Given the description of an element on the screen output the (x, y) to click on. 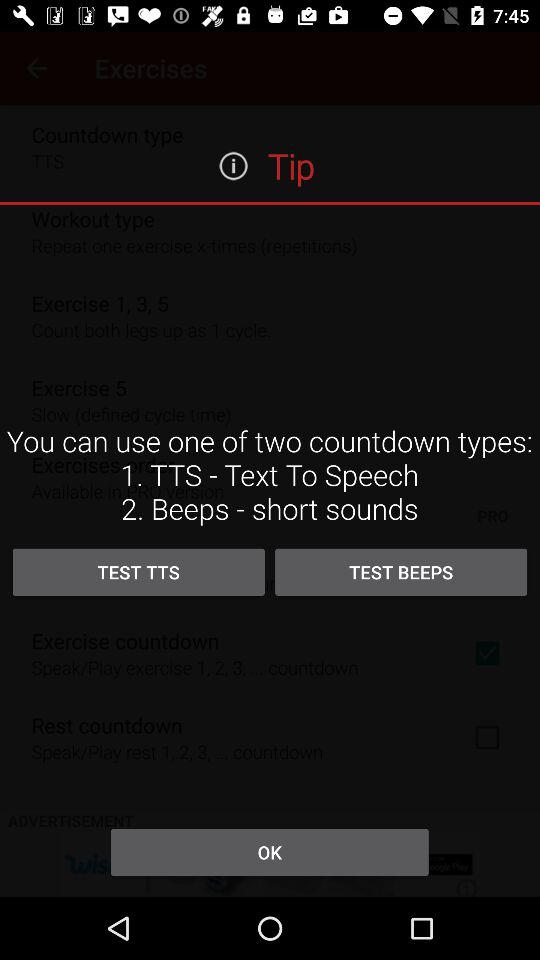
choose the ok (269, 851)
